Given the description of an element on the screen output the (x, y) to click on. 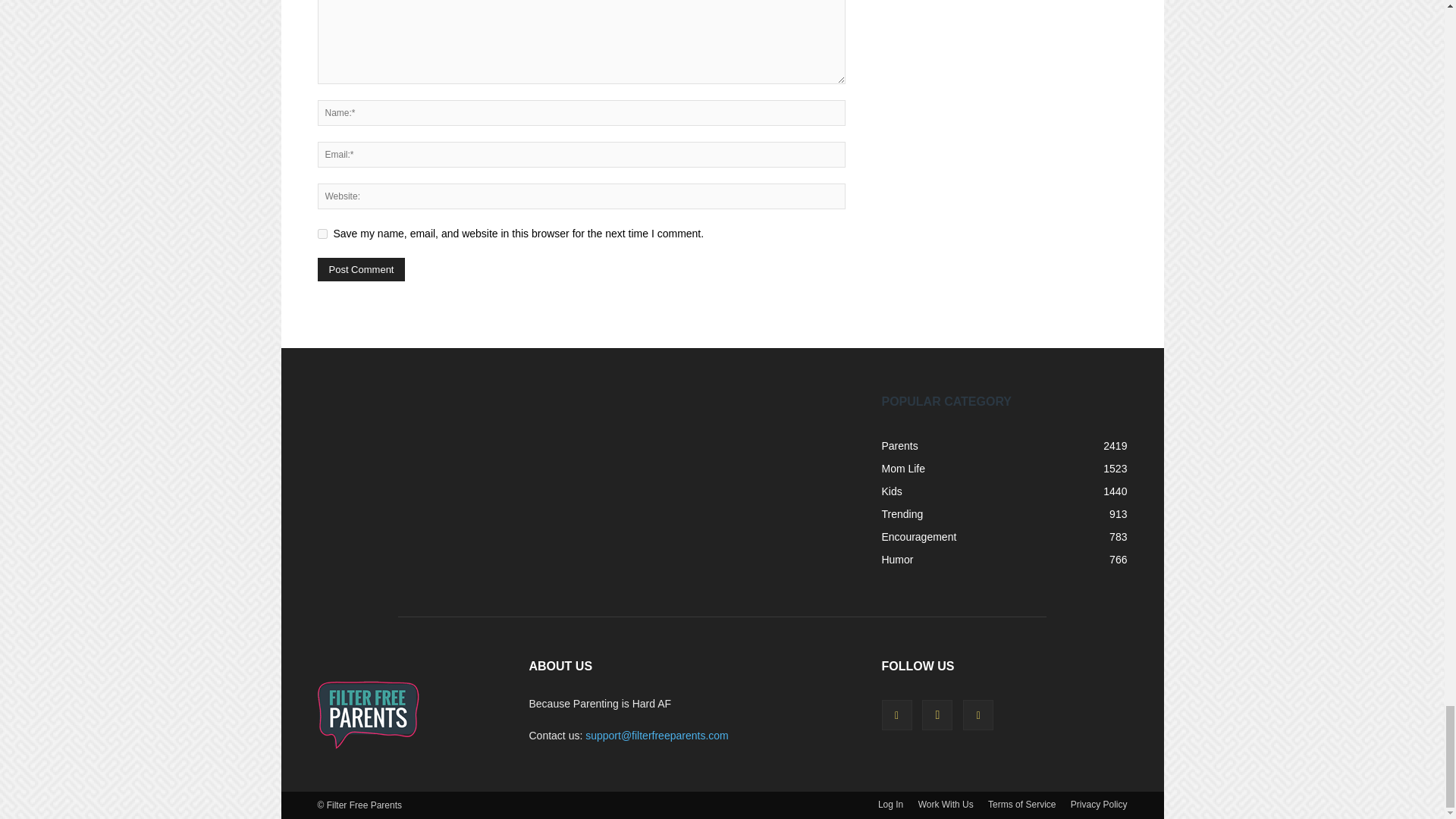
yes (321, 234)
Post Comment (360, 269)
